Given the description of an element on the screen output the (x, y) to click on. 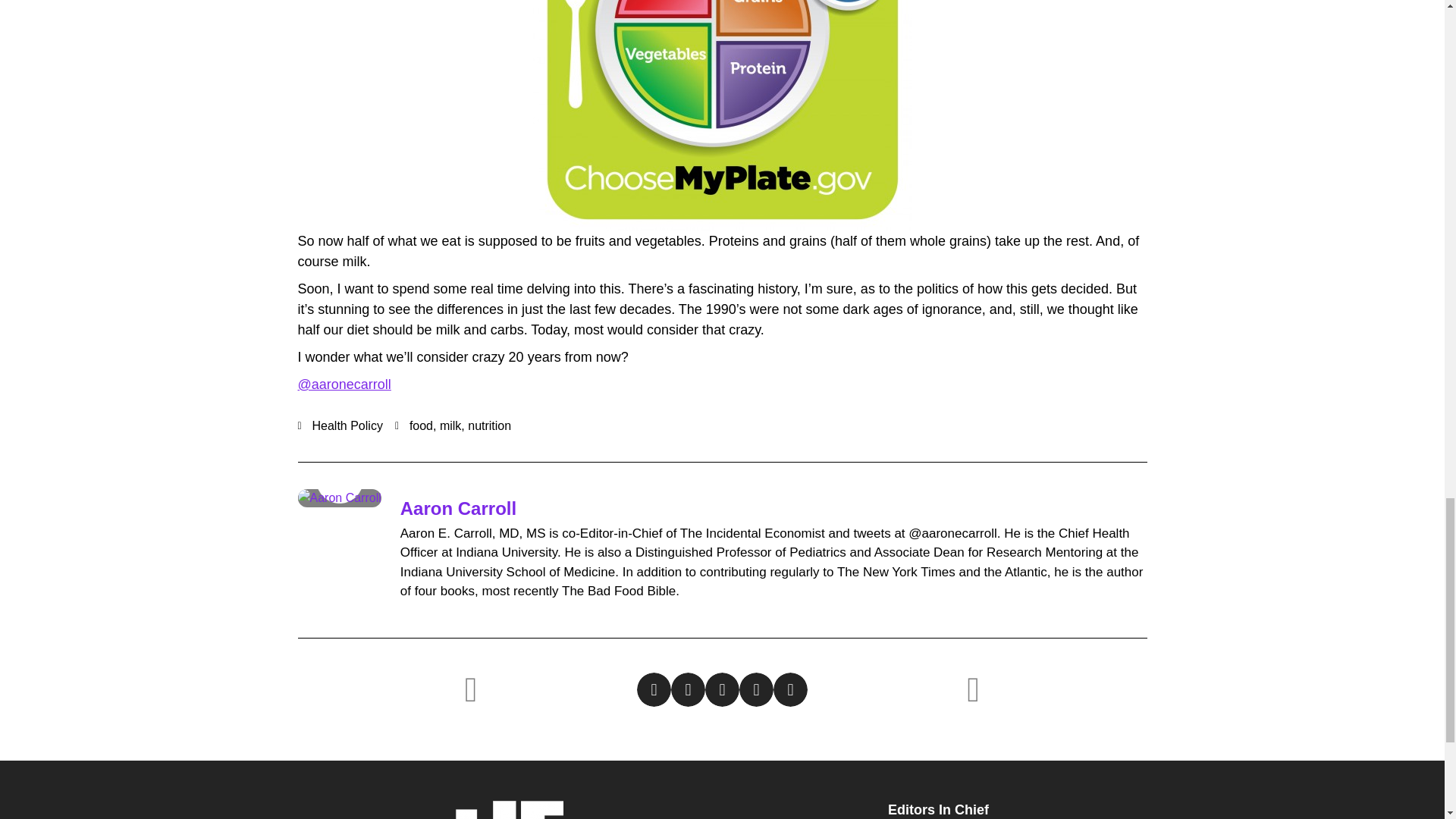
Health Policy (347, 425)
milk (450, 425)
nutrition (489, 425)
Aaron Carroll (458, 507)
food (420, 425)
